Given the description of an element on the screen output the (x, y) to click on. 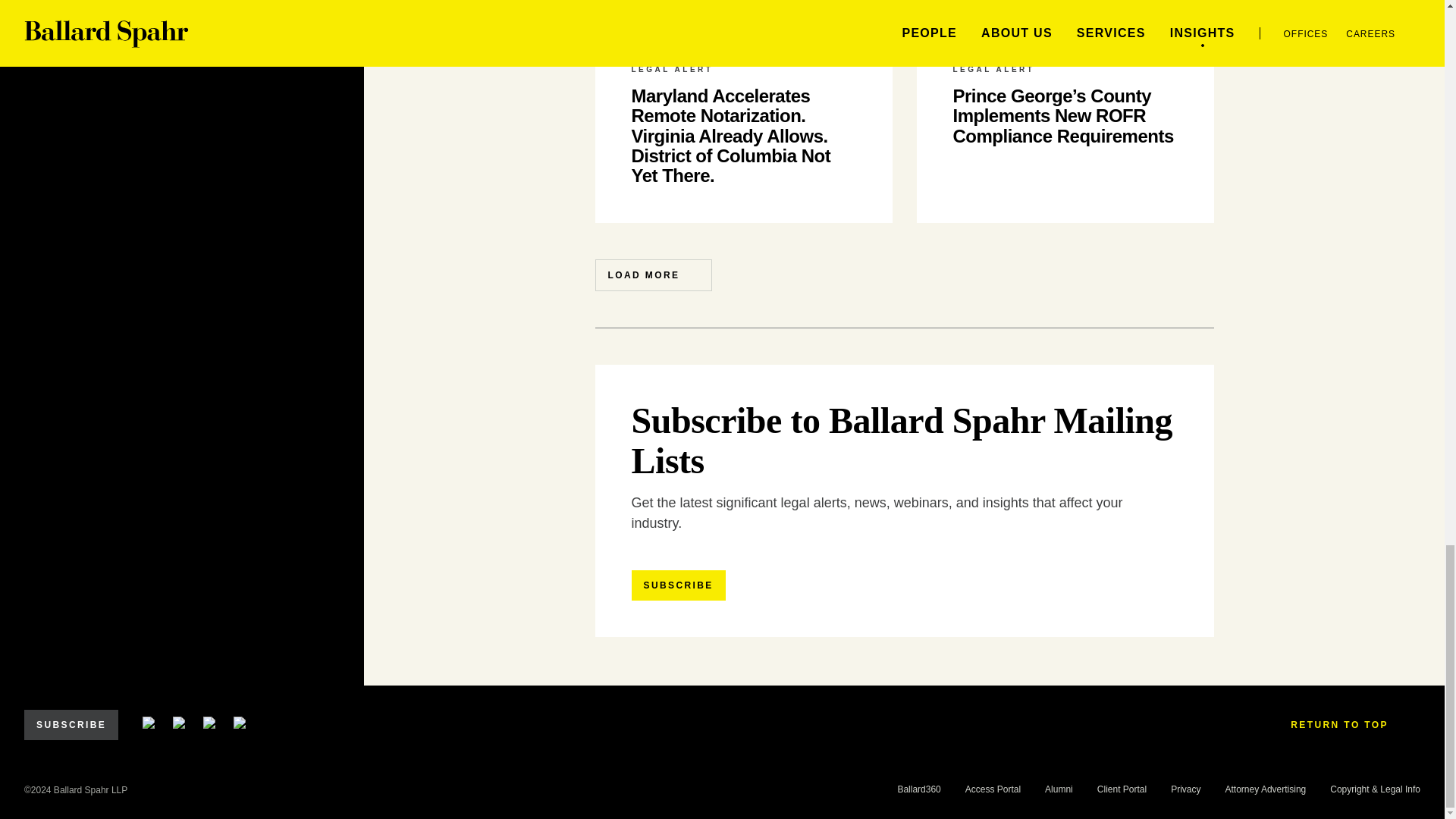
SUBSCRIBE (677, 585)
SUBSCRIBE (70, 725)
Client Portal (1122, 788)
Access Portal (992, 788)
Alumni (1059, 788)
LOAD MORE (652, 275)
RETURN TO TOP (1349, 725)
Ballard360 (918, 788)
